Given the description of an element on the screen output the (x, y) to click on. 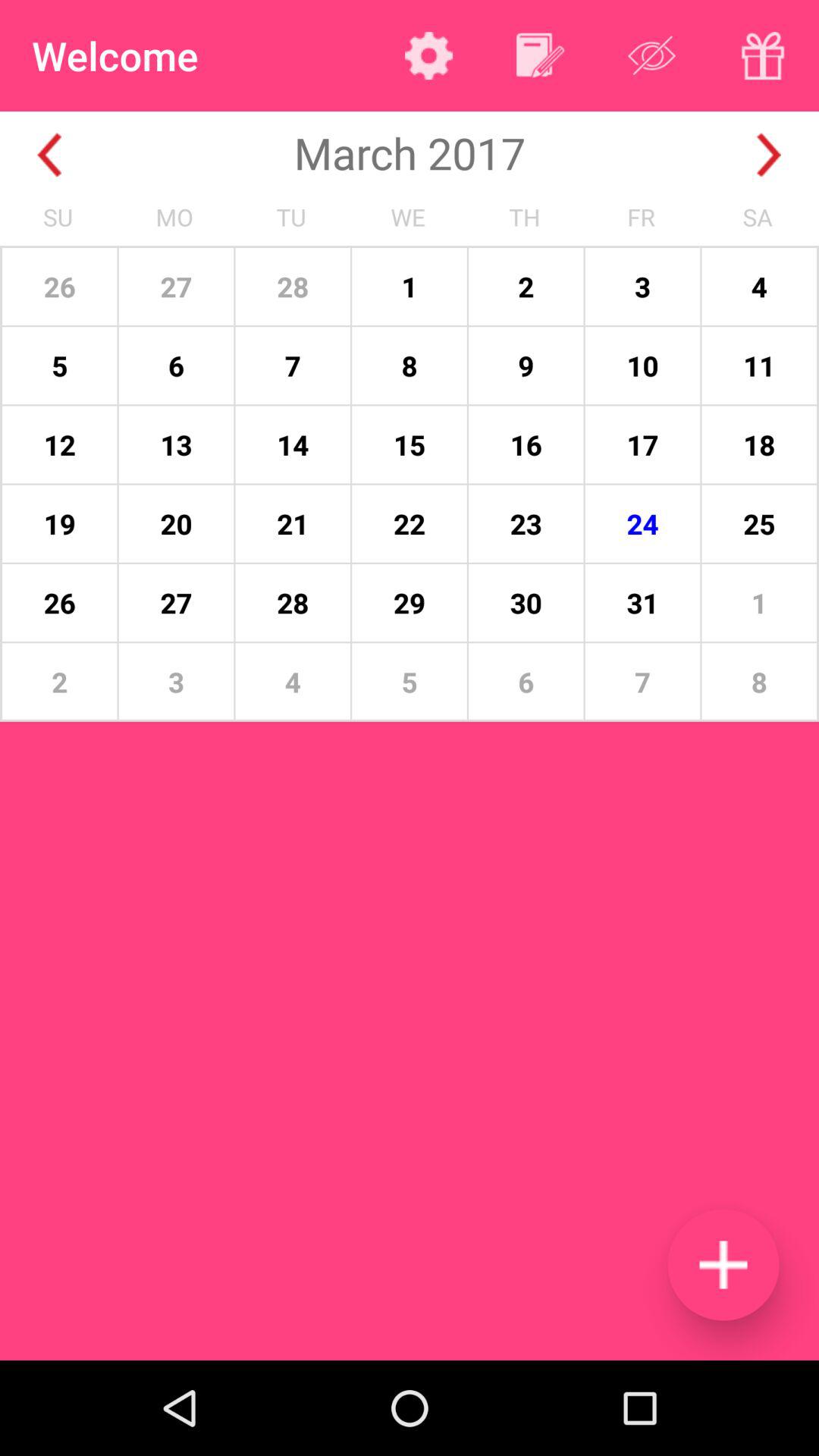
go to the next month (769, 155)
